Given the description of an element on the screen output the (x, y) to click on. 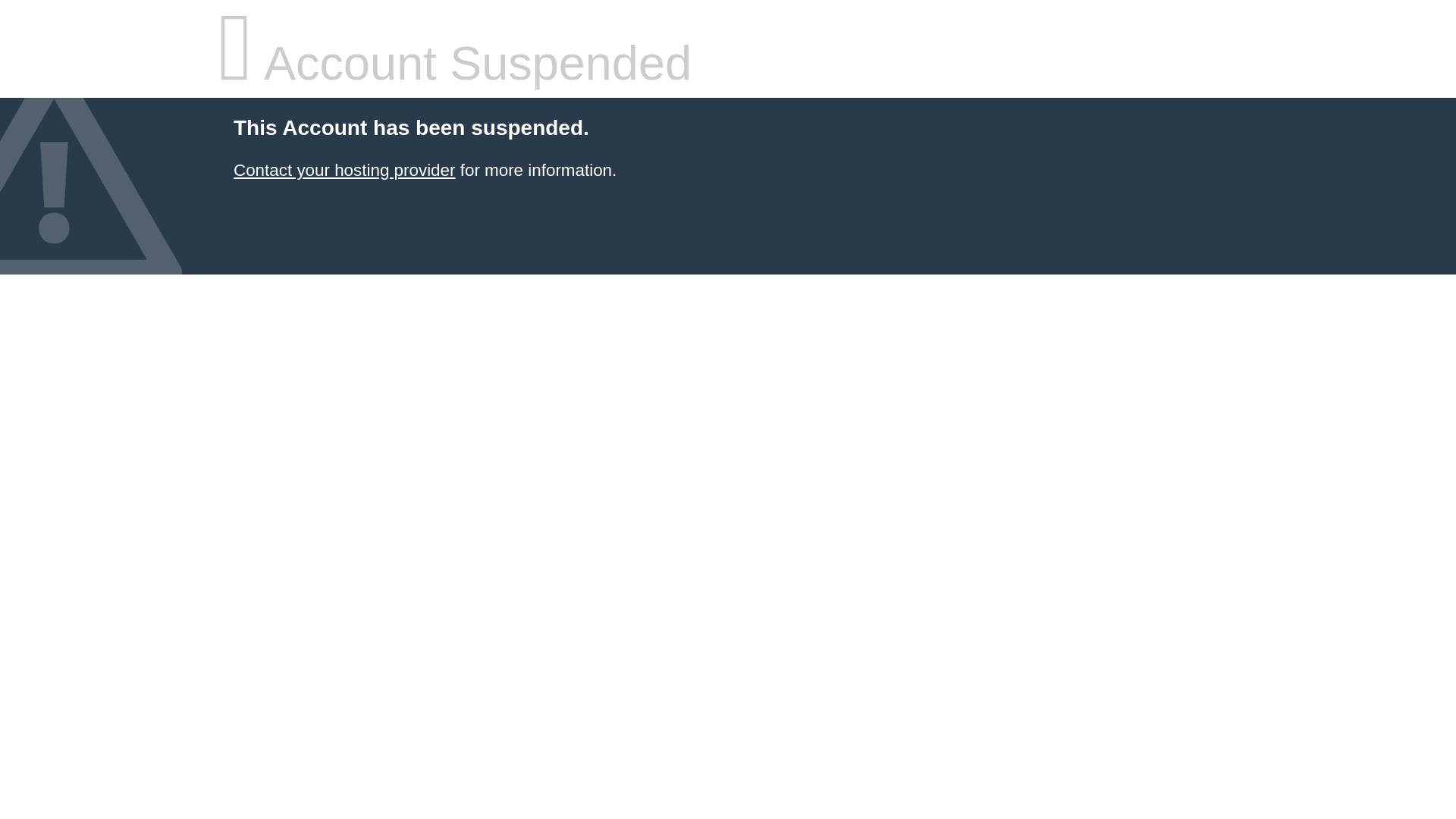
Contact your hosting provider (343, 169)
